Given the description of an element on the screen output the (x, y) to click on. 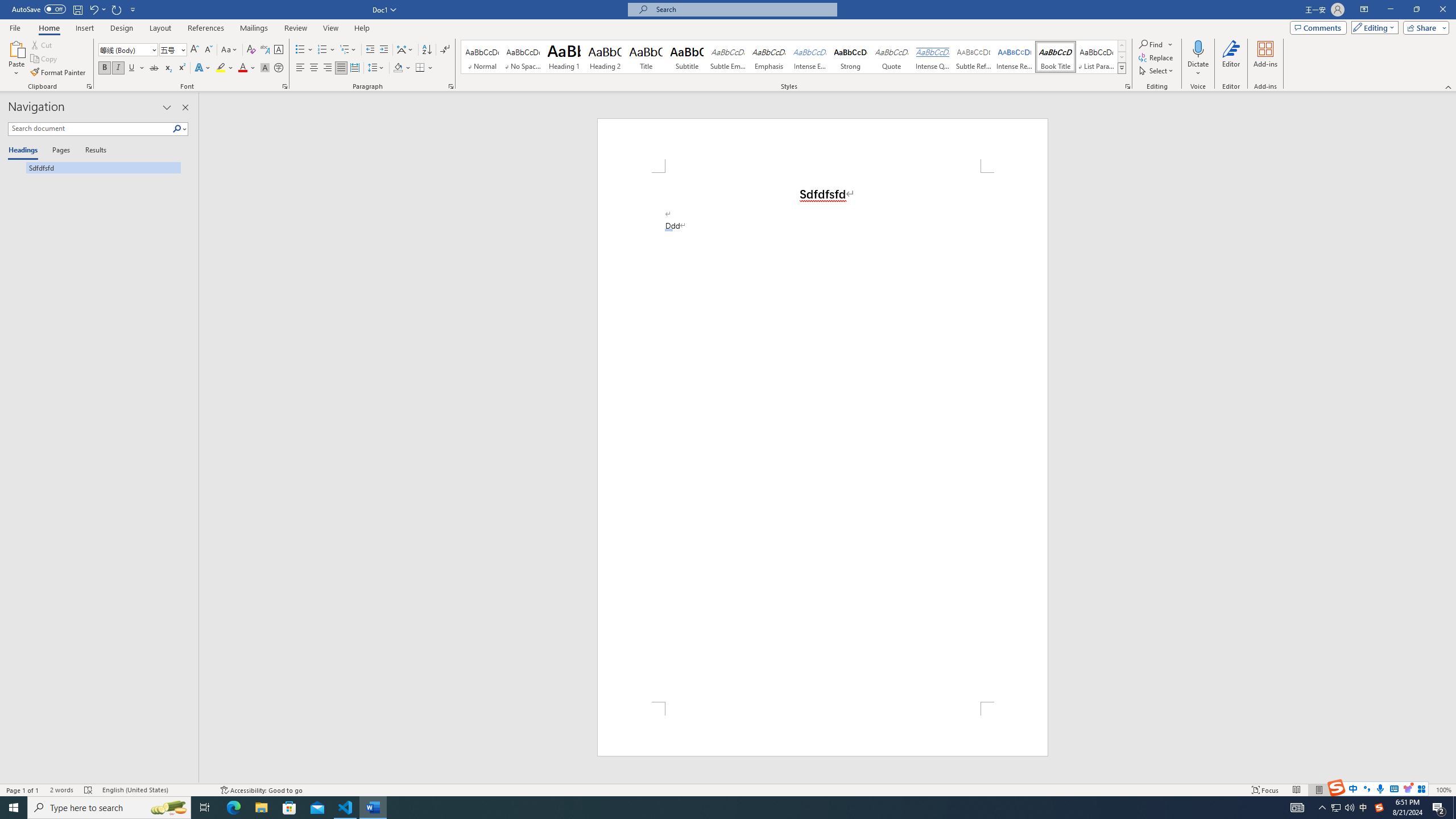
Emphasis (768, 56)
Web Layout (1342, 790)
Multilevel List (347, 49)
Font Color Red (241, 67)
Underline (131, 67)
Bullets (304, 49)
Intense Emphasis (809, 56)
Phonetic Guide... (264, 49)
Font (128, 49)
Zoom Out (1377, 790)
Close (1442, 9)
Strong (849, 56)
